Given the description of an element on the screen output the (x, y) to click on. 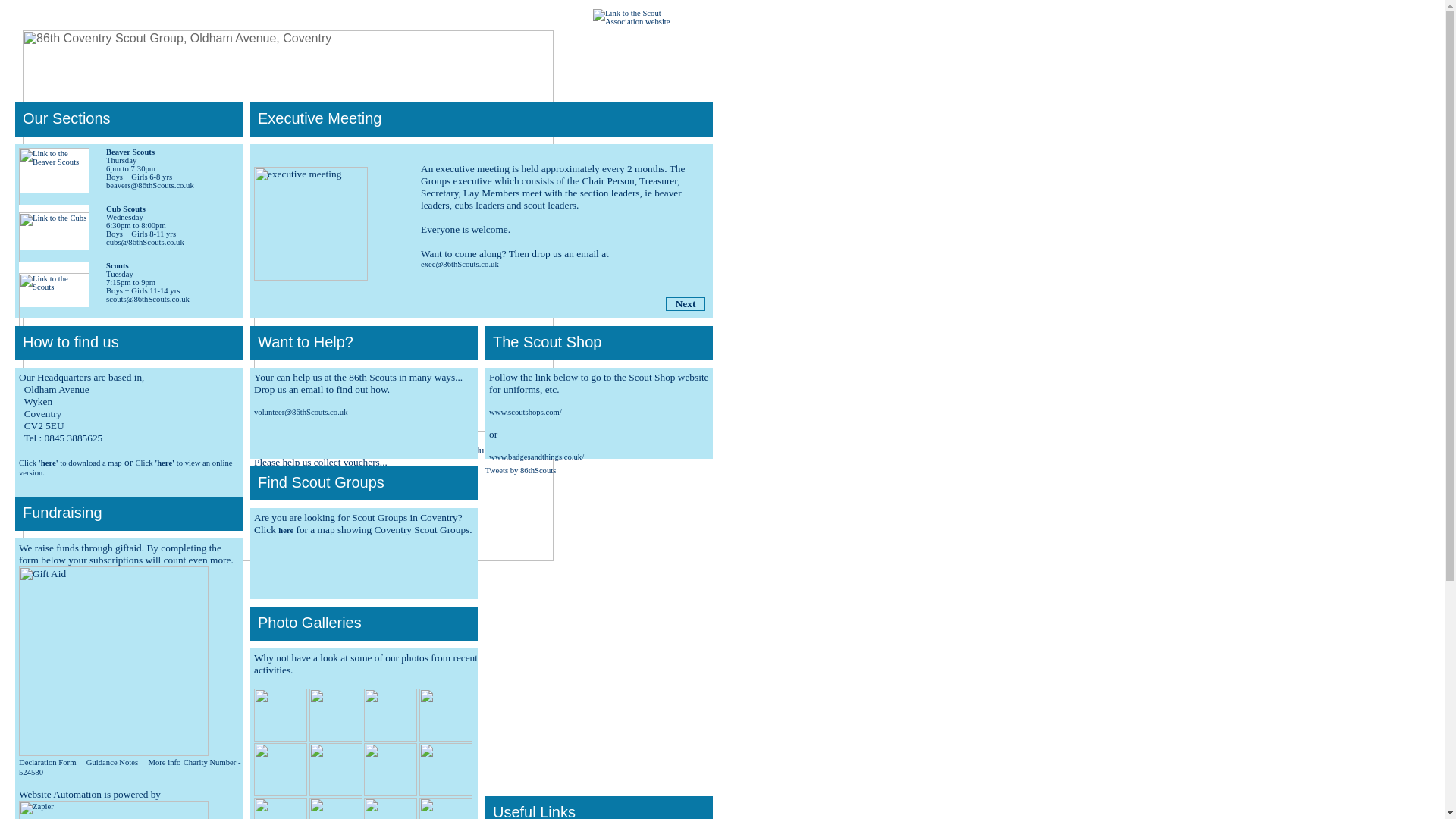
directions (495, 217)
Click 'here' to download a map (70, 462)
directions (495, 230)
Guidance Notes (111, 762)
email. (586, 266)
Click 'here' to view an online version. (124, 467)
More info (164, 762)
Declaration Form (46, 762)
Charity Number - 524580 (129, 767)
